Given the description of an element on the screen output the (x, y) to click on. 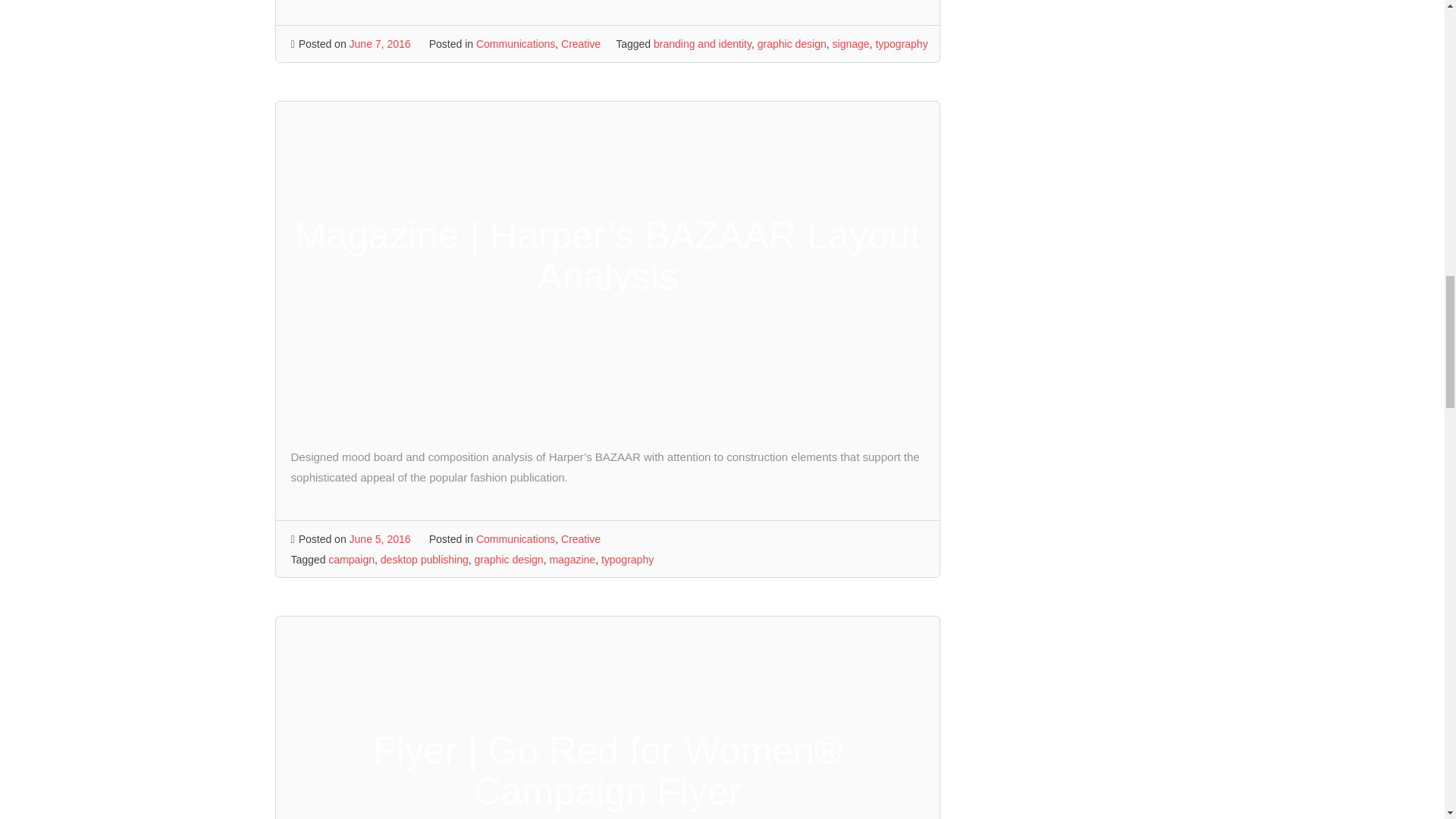
Creative (579, 43)
Communications (515, 43)
branding and identity (702, 43)
June 7, 2016 (379, 43)
graphic design (792, 43)
